Given the description of an element on the screen output the (x, y) to click on. 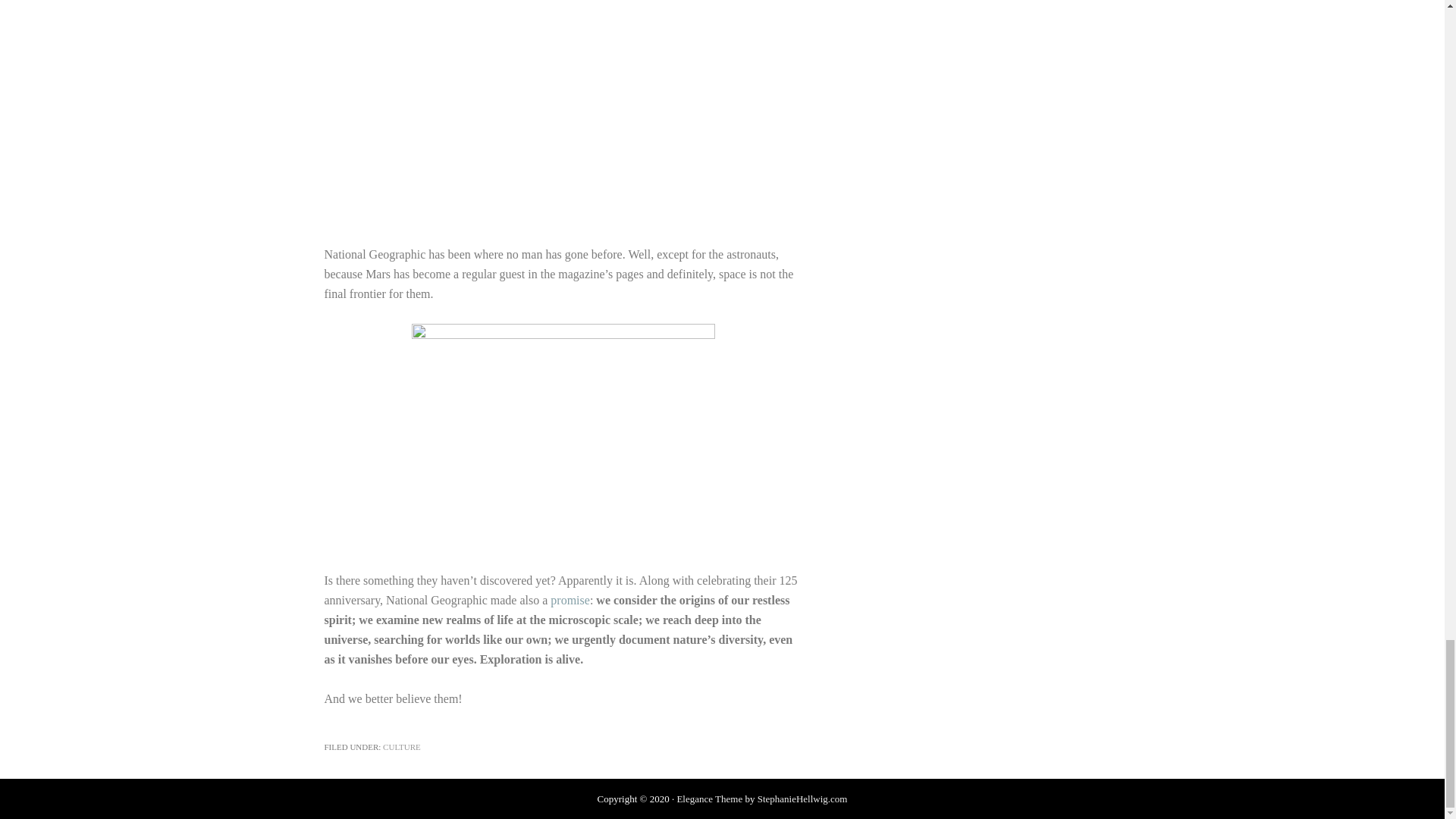
CULTURE (401, 746)
Elegance Theme (709, 798)
promise (569, 599)
StephanieHellwig.com (802, 798)
